Given the description of an element on the screen output the (x, y) to click on. 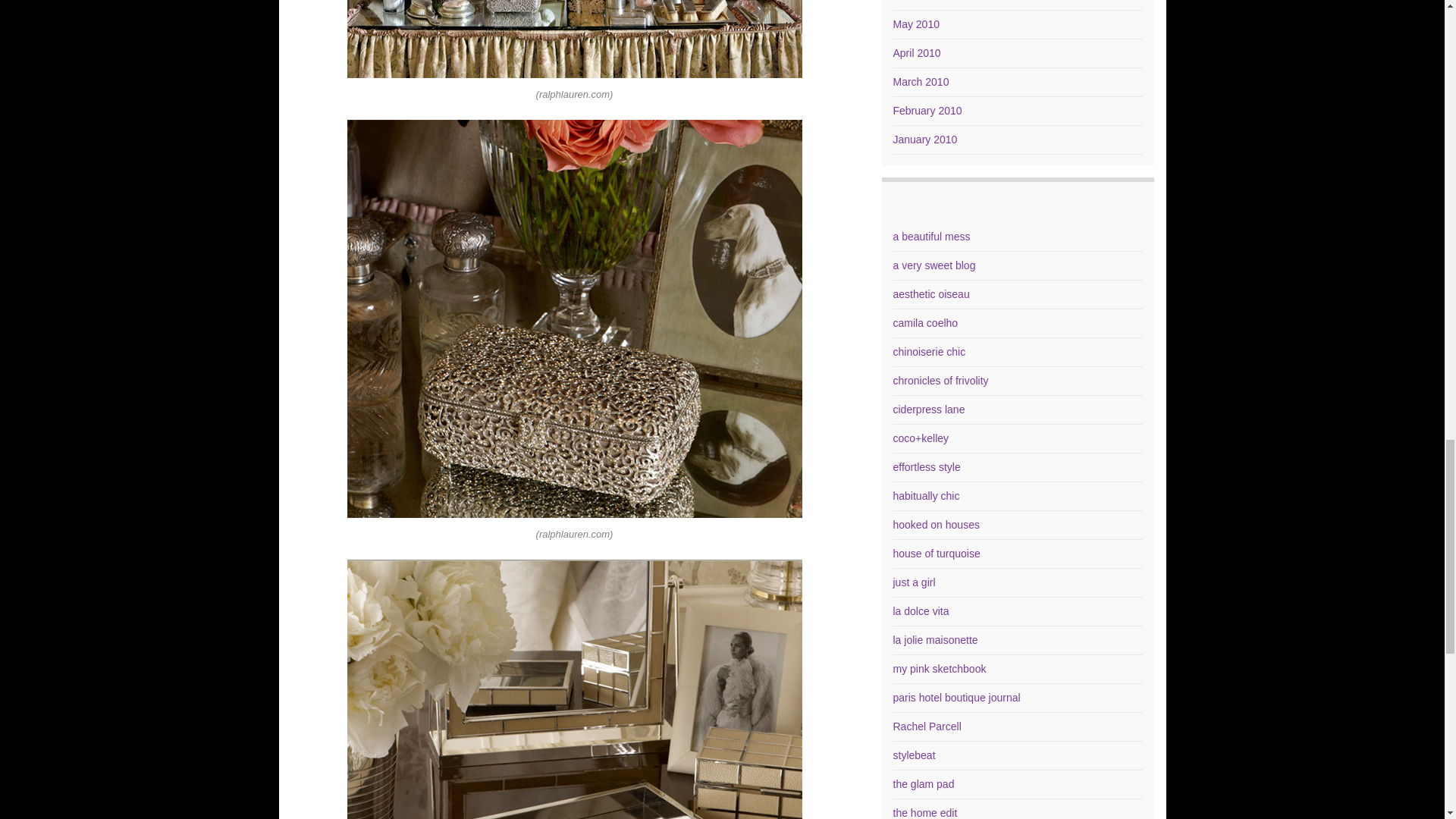
rlh5 (574, 38)
rl1 (574, 689)
